Given the description of an element on the screen output the (x, y) to click on. 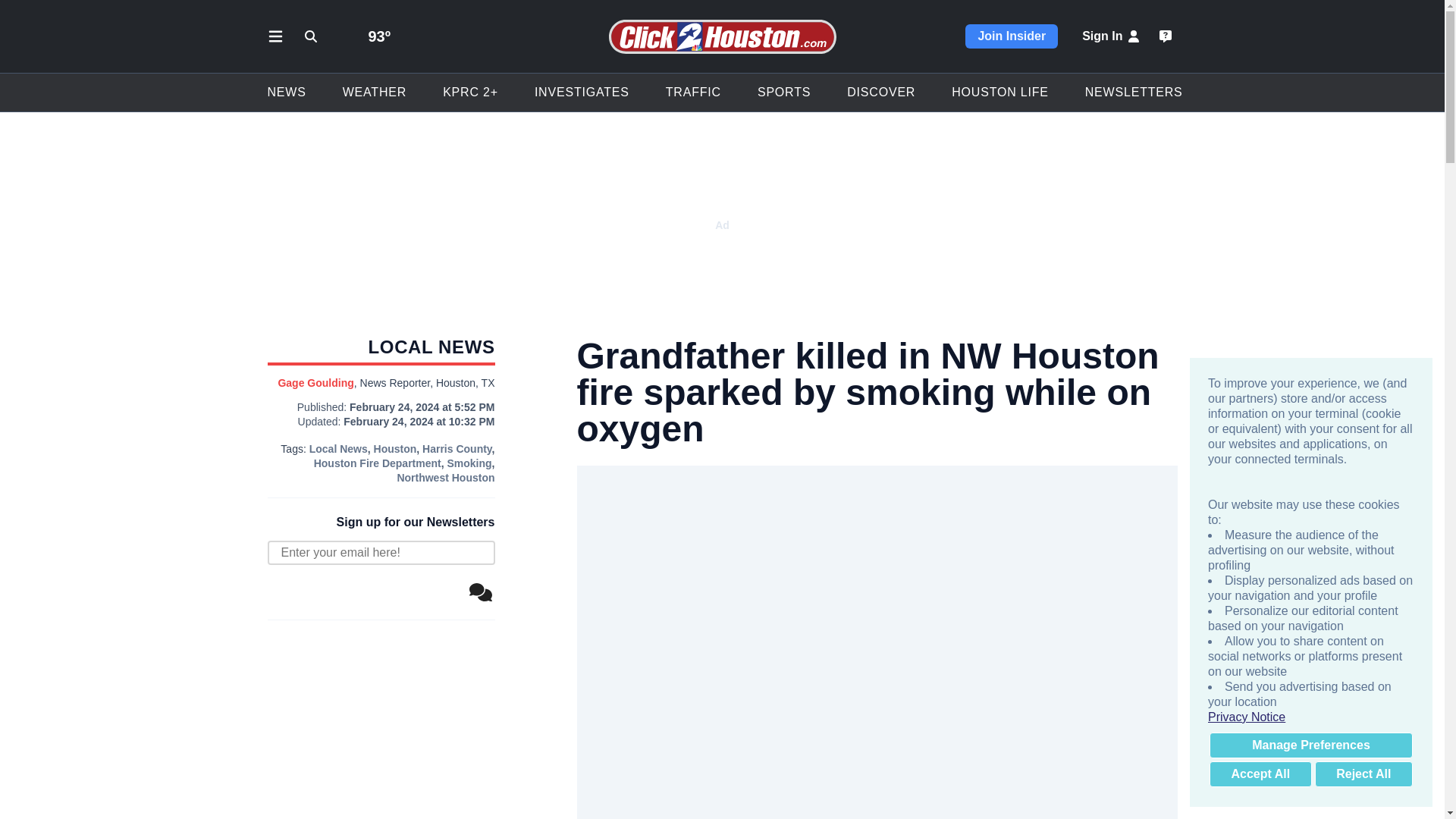
Reject All (1363, 774)
Join Insider (1011, 36)
Manage Preferences (1310, 745)
Accept All (1260, 774)
Privacy Notice (1310, 717)
Sign In (1111, 36)
